Given the description of an element on the screen output the (x, y) to click on. 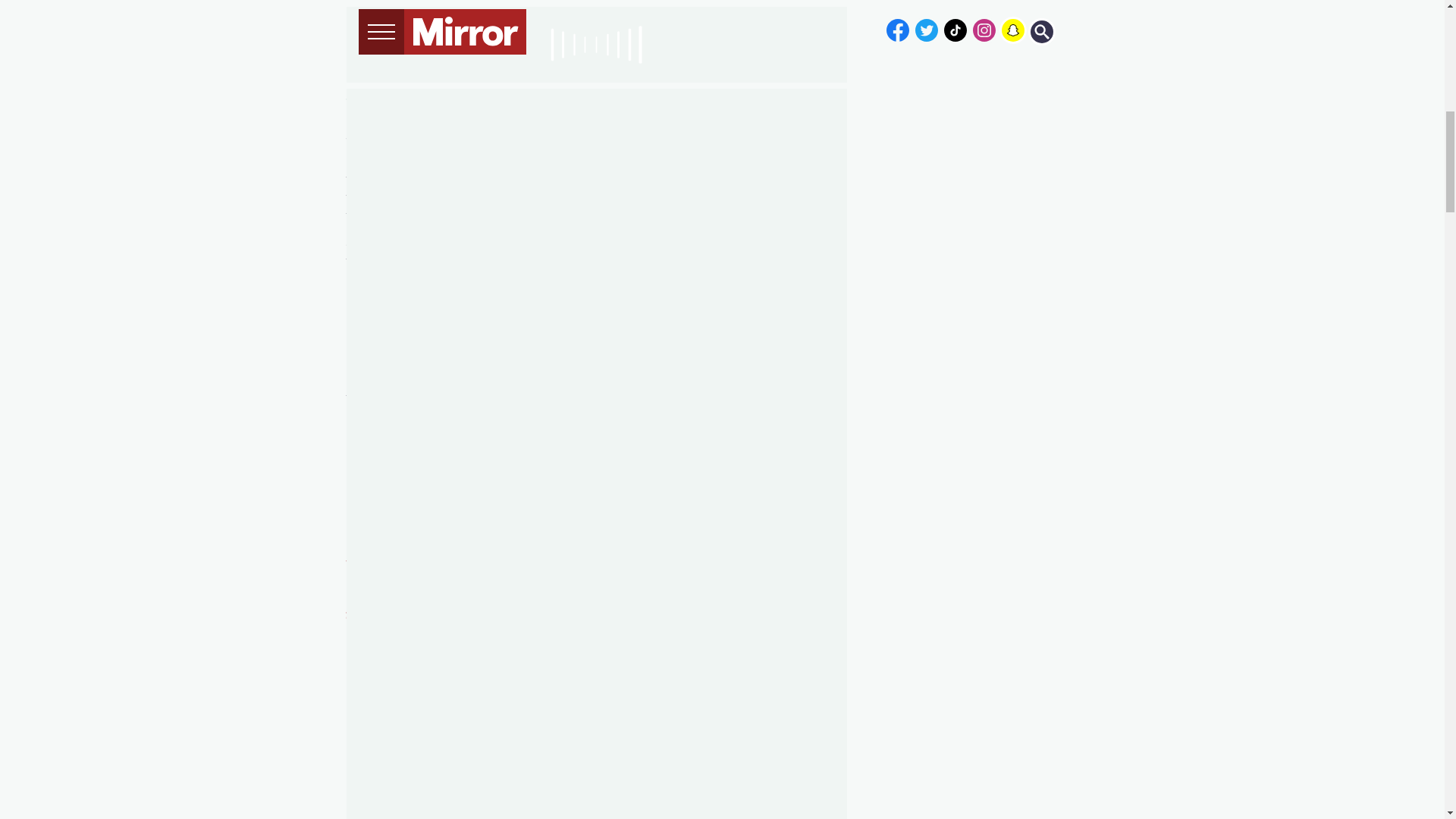
Jurgen Klopp (387, 97)
Chelsea, (579, 215)
Liverpool (725, 115)
Arsenal's (767, 260)
Learn more (598, 433)
Champions League (781, 142)
Sunday's Carabao Cup final (616, 97)
Gary Neville, (675, 360)
Premier League (624, 142)
